Given the description of an element on the screen output the (x, y) to click on. 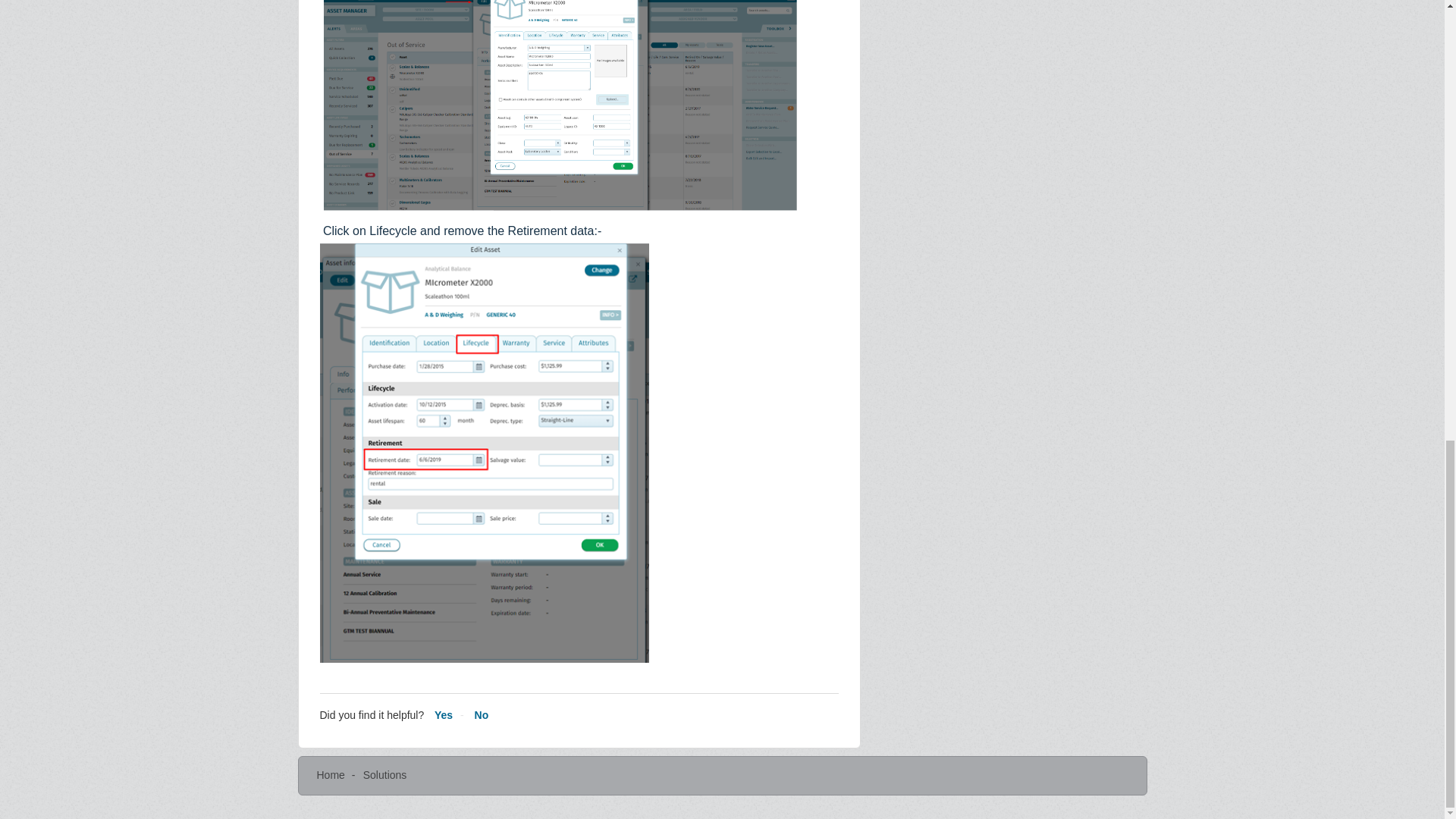
Home (331, 775)
Solutions (384, 775)
